Given the description of an element on the screen output the (x, y) to click on. 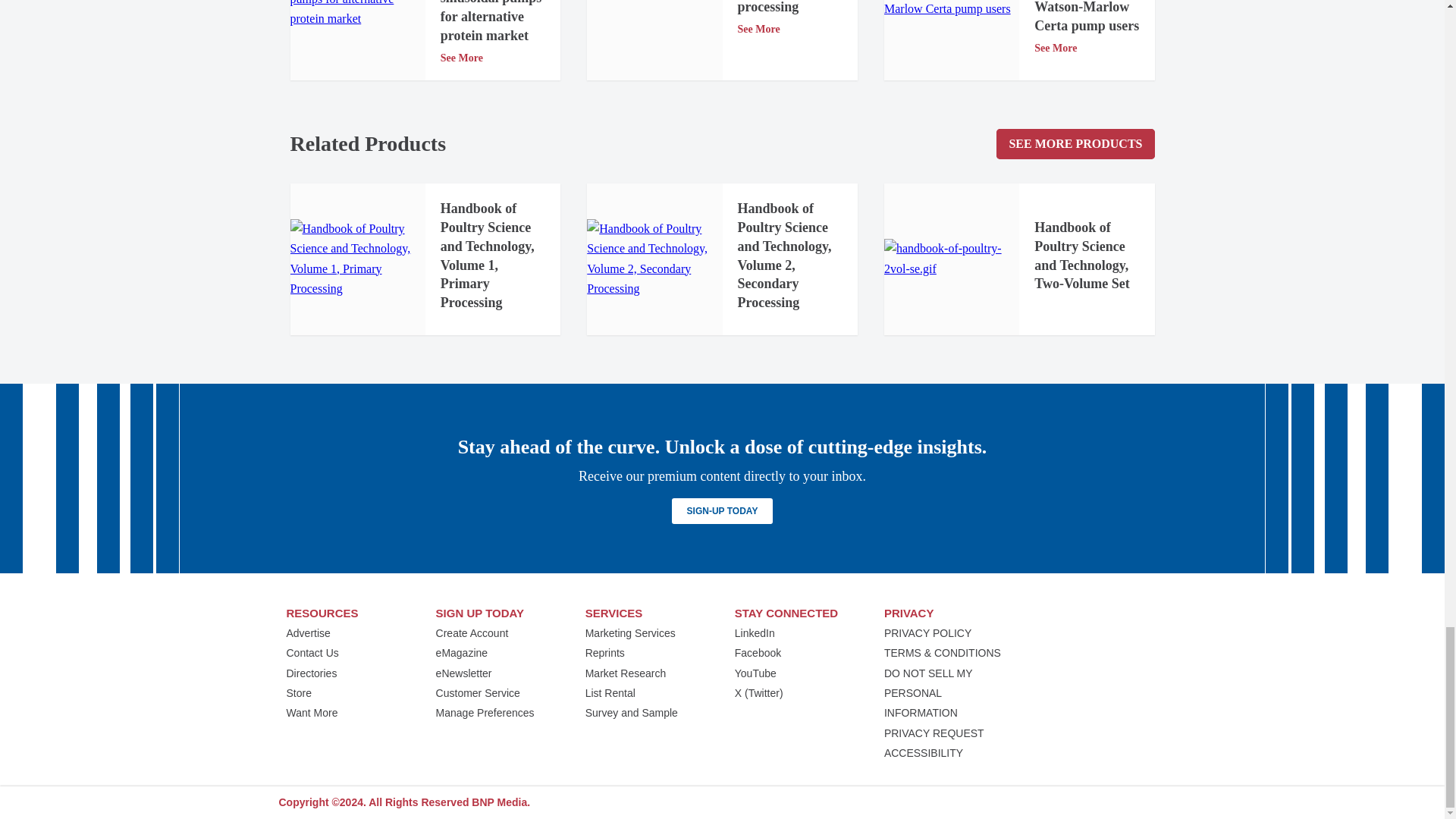
handbook-of-poultry-2vol-se.gif (951, 259)
